Given the description of an element on the screen output the (x, y) to click on. 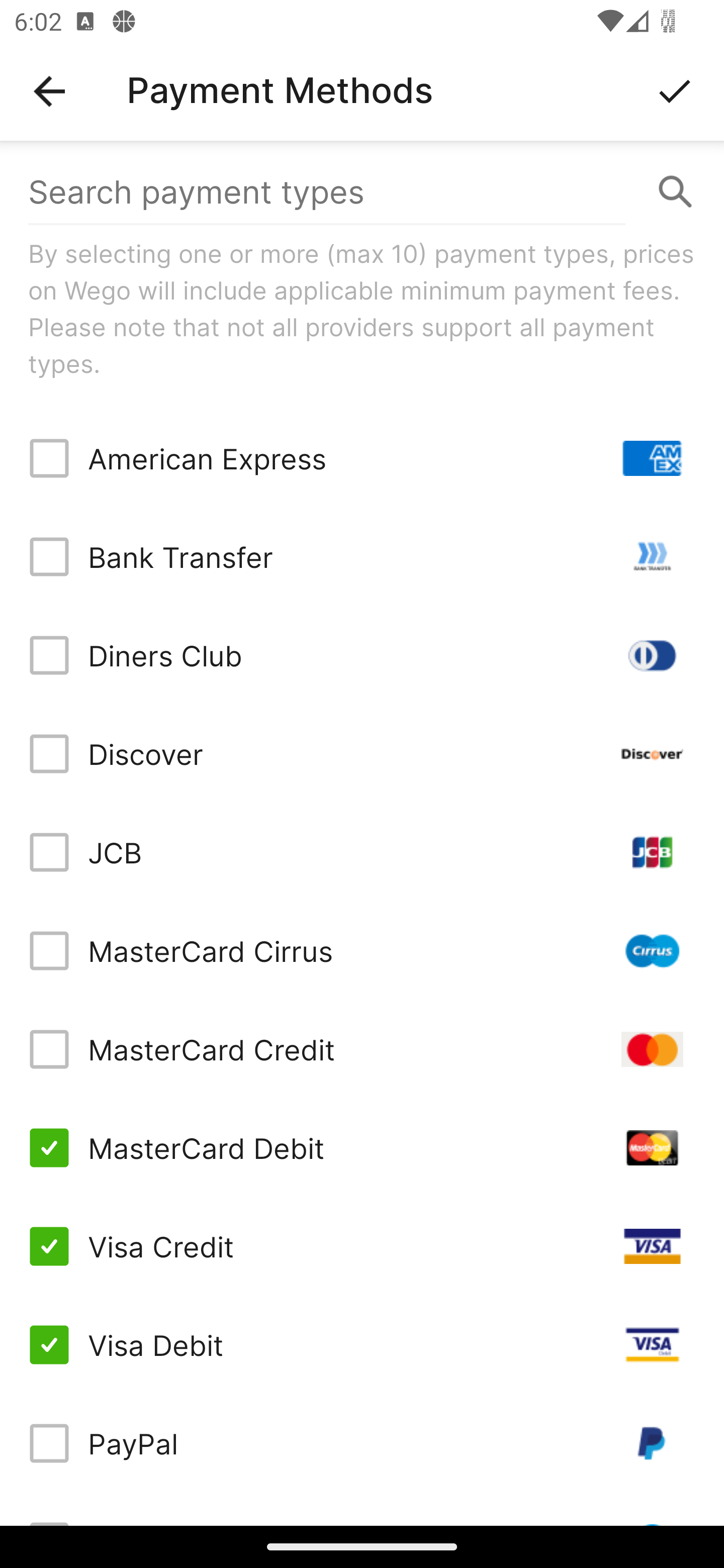
Search payment types  (361, 191)
American Express (362, 458)
Bank Transfer (362, 557)
Diners Club (362, 655)
Discover (362, 753)
JCB (362, 851)
MasterCard Cirrus (362, 950)
MasterCard Credit (362, 1049)
MasterCard Debit (362, 1147)
Visa Credit (362, 1245)
Visa Debit (362, 1344)
PayPal (362, 1442)
